Given the description of an element on the screen output the (x, y) to click on. 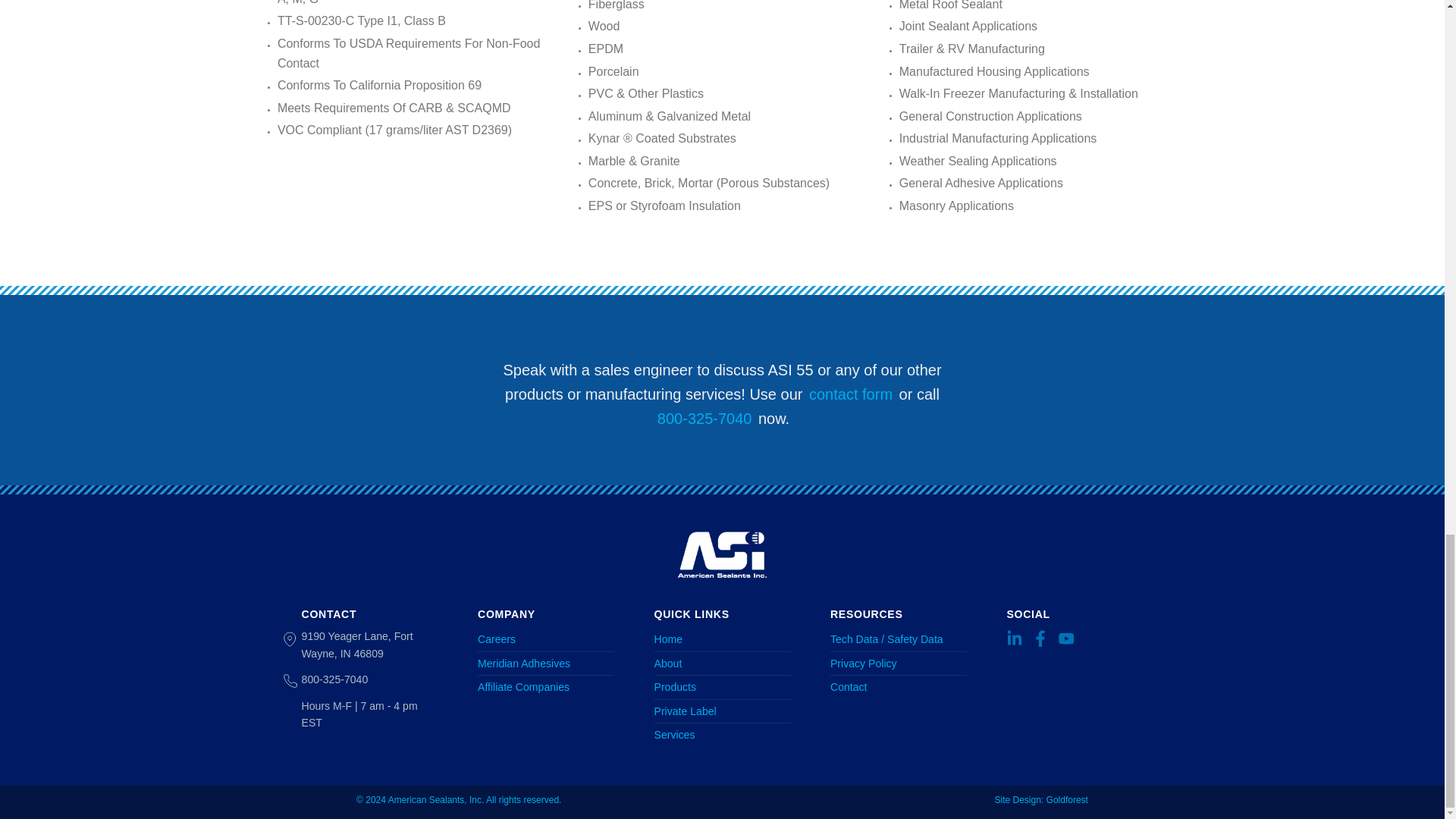
Services (721, 734)
800-325-7040 (704, 418)
Affiliate Companies (545, 687)
Meridian Adhesives (545, 663)
contact form (850, 394)
Home (721, 639)
Private Label (721, 711)
800-325-7040 (334, 679)
Contact (897, 687)
Careers (545, 639)
About (721, 663)
Privacy Policy (897, 663)
Products (721, 687)
